Given the description of an element on the screen output the (x, y) to click on. 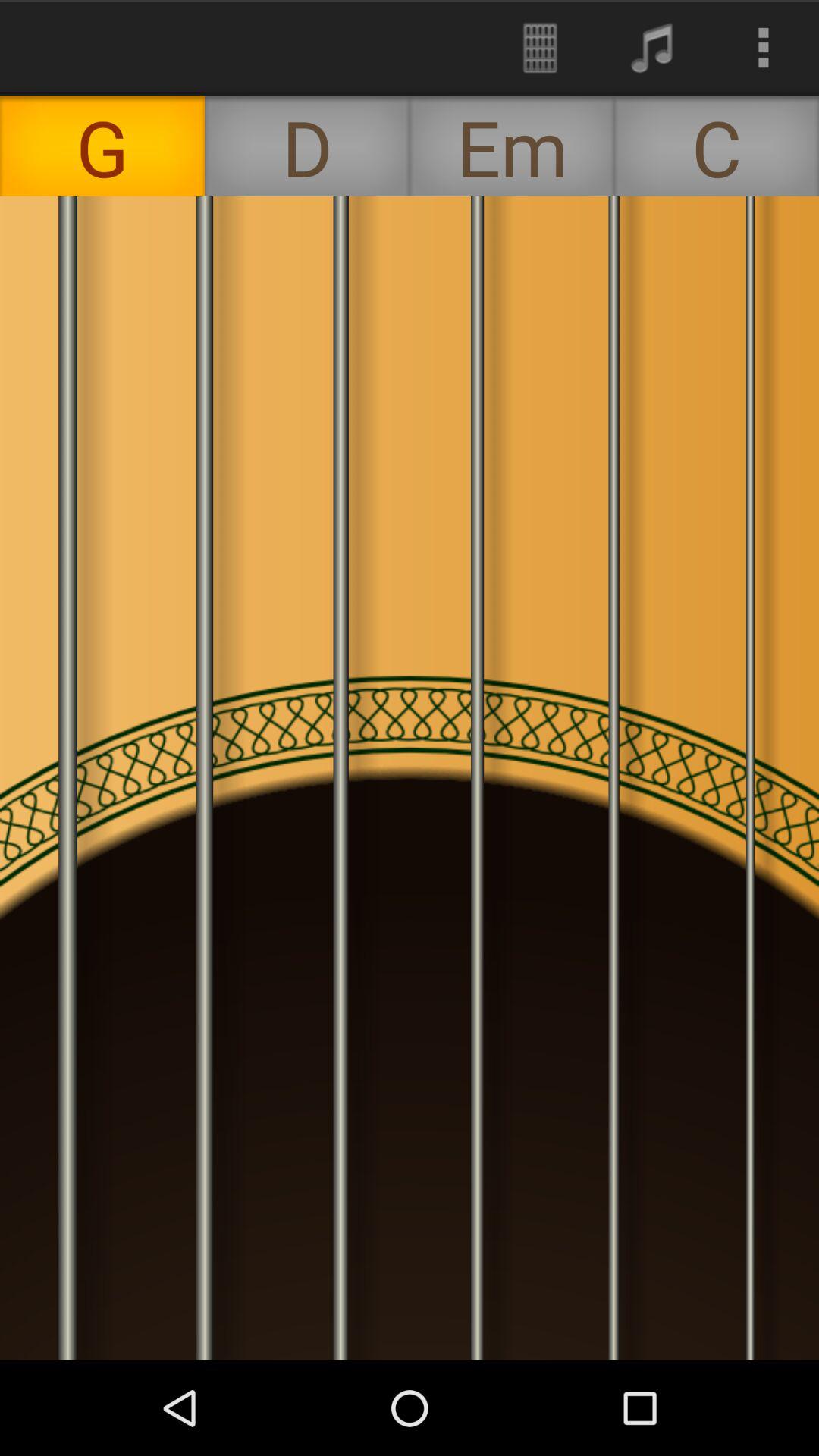
choose the icon next to c icon (511, 145)
